Given the description of an element on the screen output the (x, y) to click on. 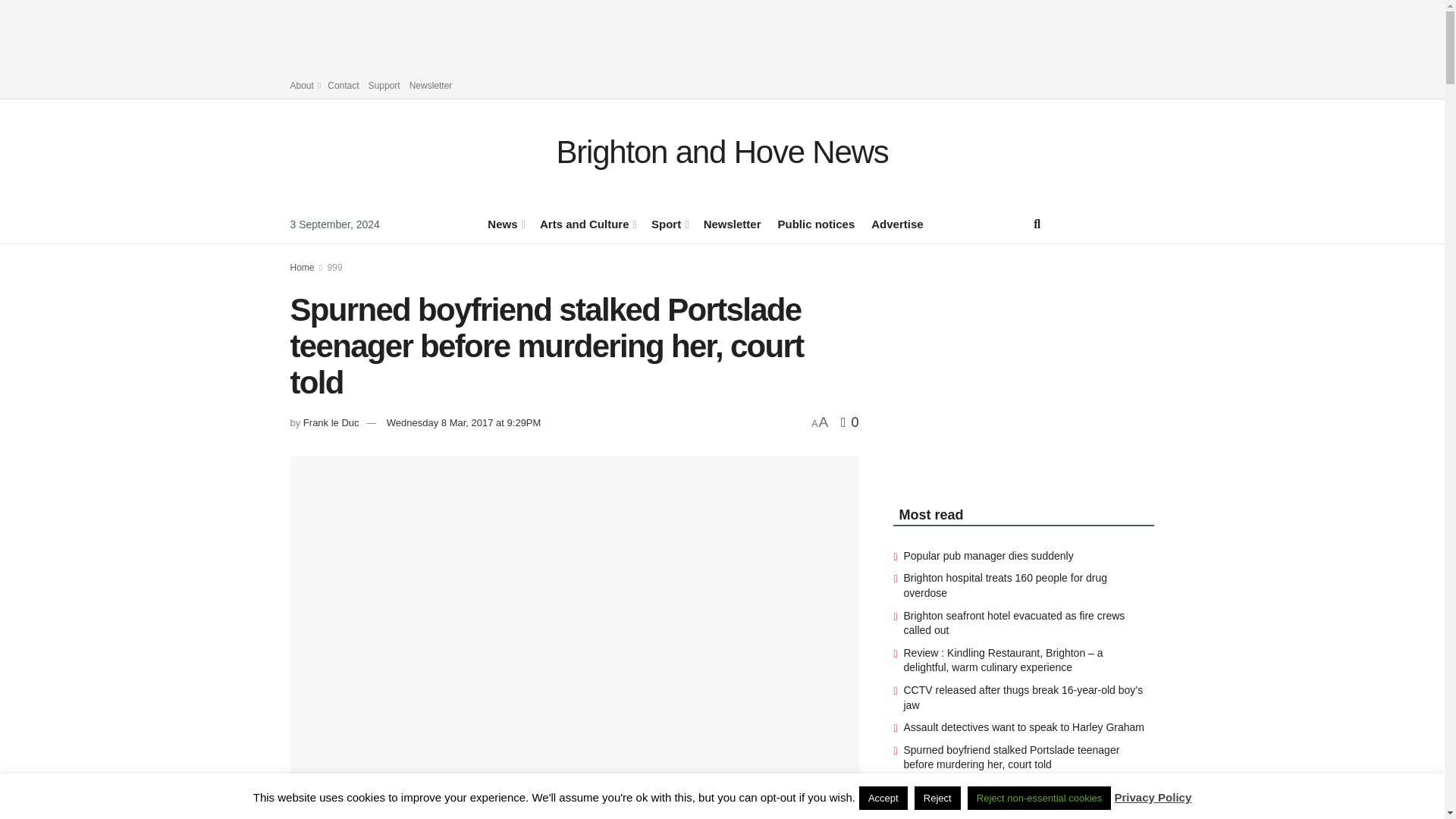
Support (384, 85)
Newsletter (732, 223)
Arts and Culture (587, 223)
Sport (668, 223)
About (303, 85)
Advertise (896, 223)
Public notices (816, 223)
Contact (342, 85)
Advertisement (722, 33)
Brighton and Hove News (722, 152)
